Given the description of an element on the screen output the (x, y) to click on. 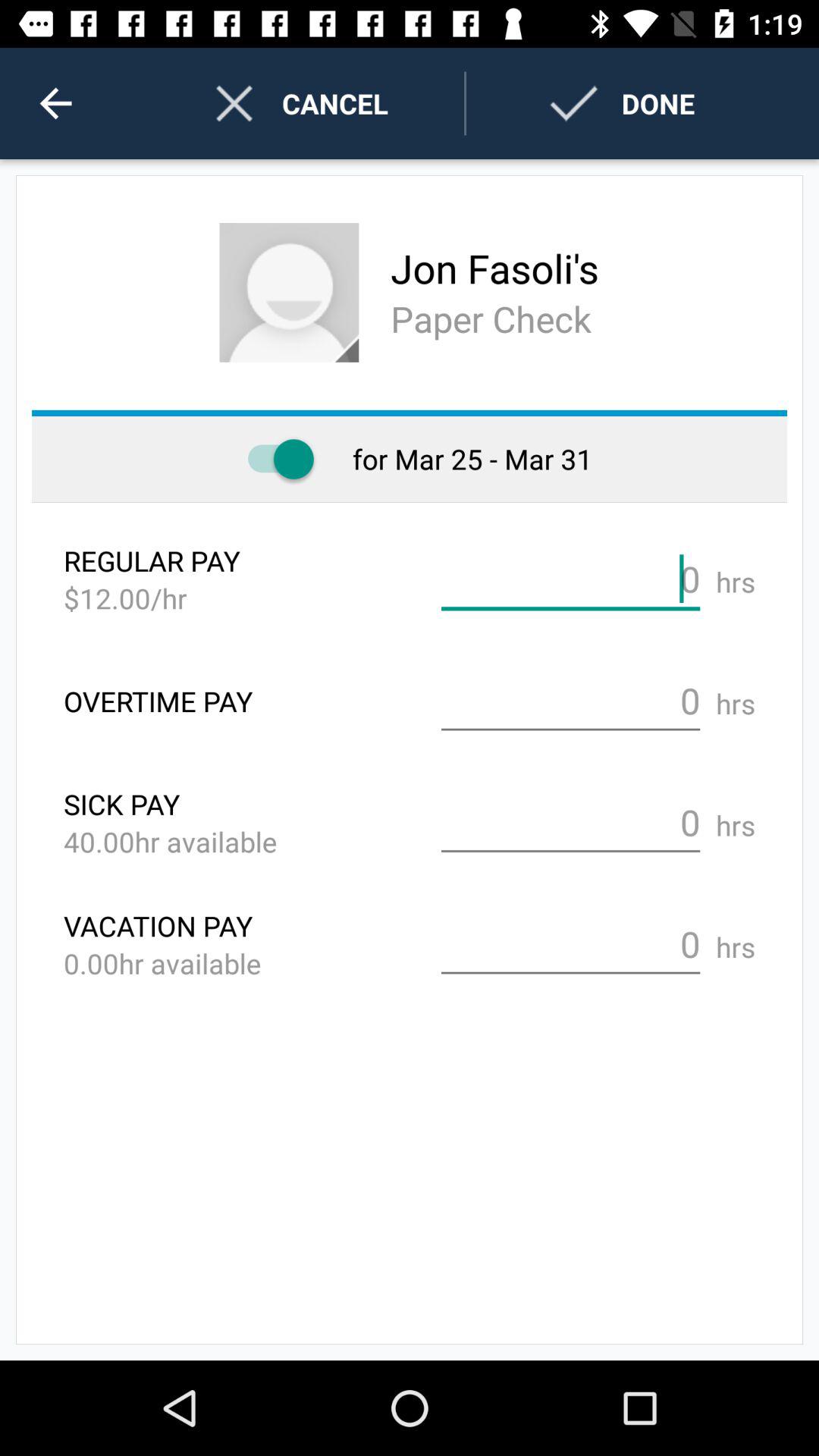
click the icon to the left of for mar 25 icon (273, 459)
